Given the description of an element on the screen output the (x, y) to click on. 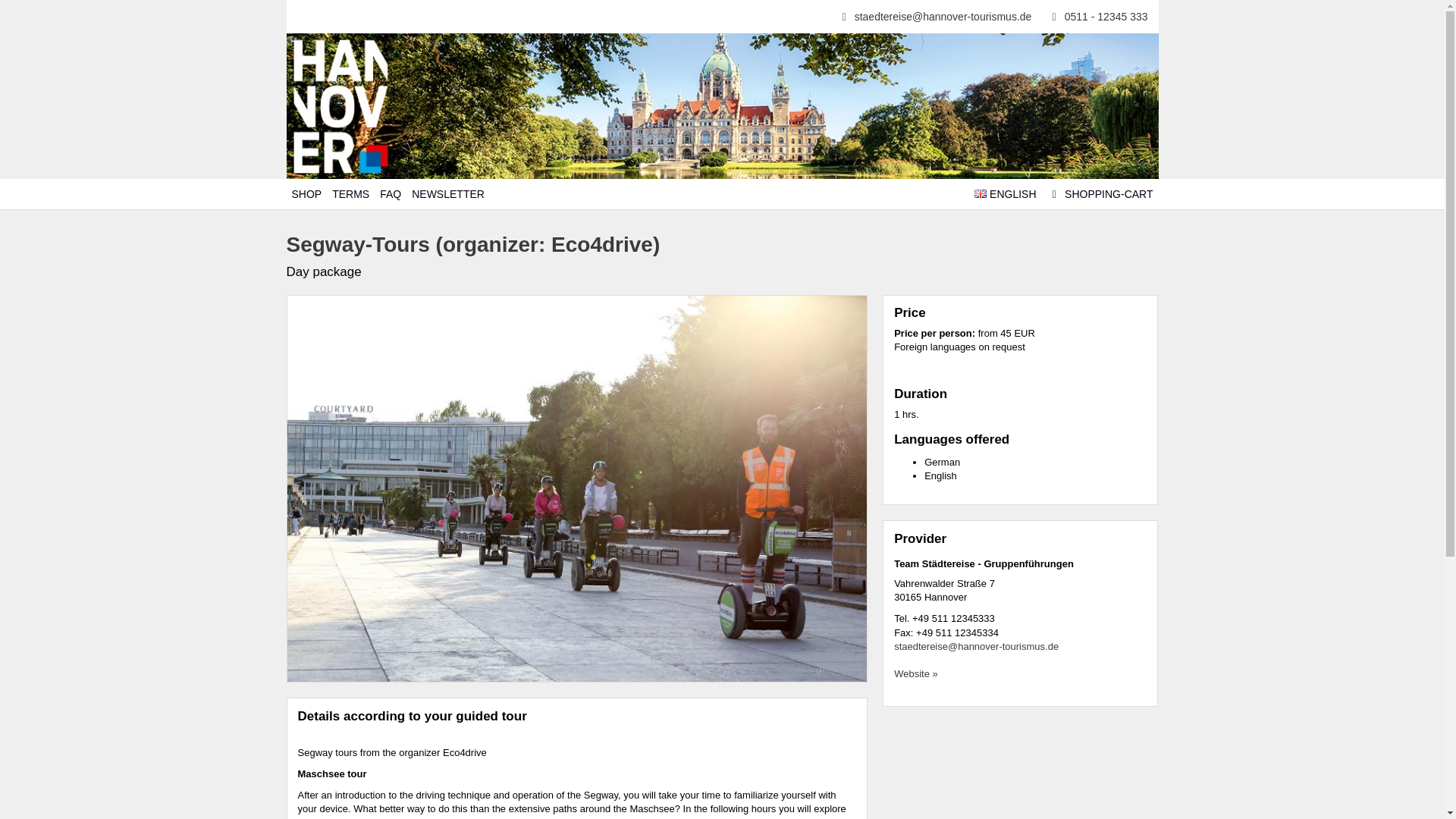
SHOPPING-CART (1100, 194)
NEWSLETTER (447, 194)
Sprachauswahl (1005, 194)
0511 - 12345 333 (1096, 16)
Shopping-cart (1100, 194)
TERMS (350, 194)
SHOP (306, 194)
FAQ (390, 194)
